Given the description of an element on the screen output the (x, y) to click on. 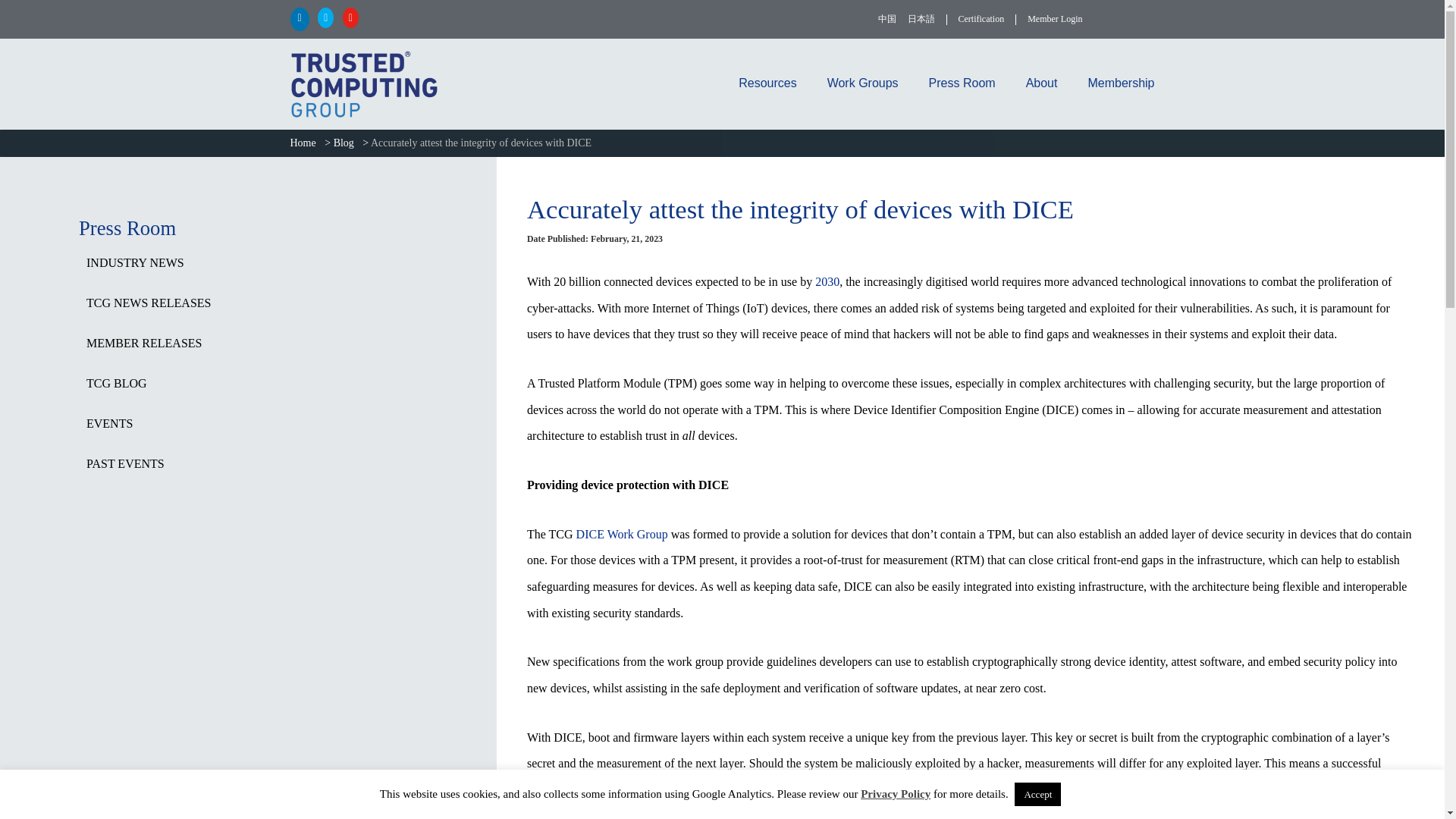
Work Groups (863, 83)
Certification (981, 18)
Resources (766, 83)
Go to Trusted Computing Group. (305, 142)
Go to the Blog category archives. (346, 142)
Member Login (1054, 18)
